Given the description of an element on the screen output the (x, y) to click on. 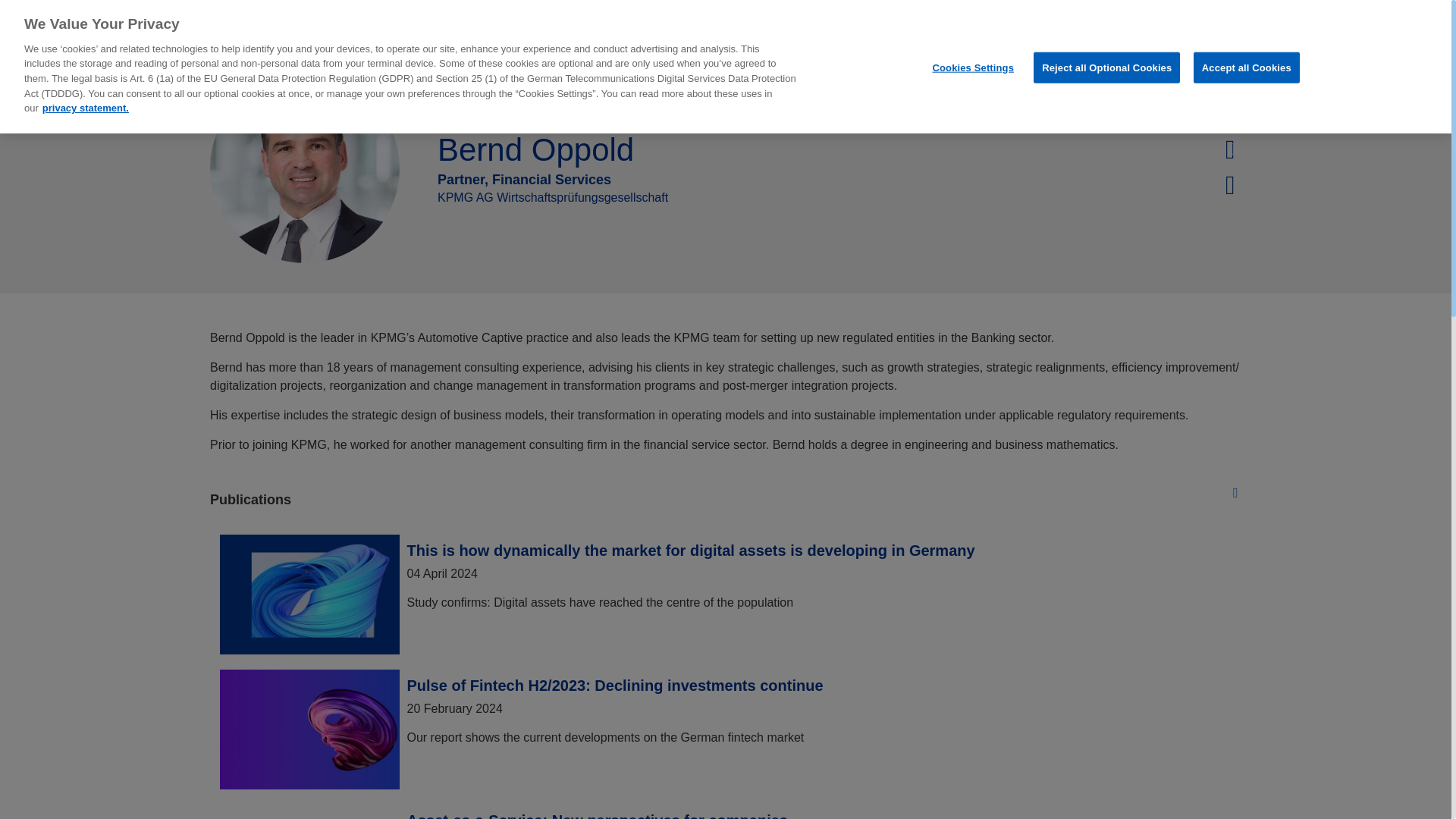
Services (684, 28)
Industries (593, 28)
Insights (503, 28)
Skip to content (175, 21)
